Given the description of an element on the screen output the (x, y) to click on. 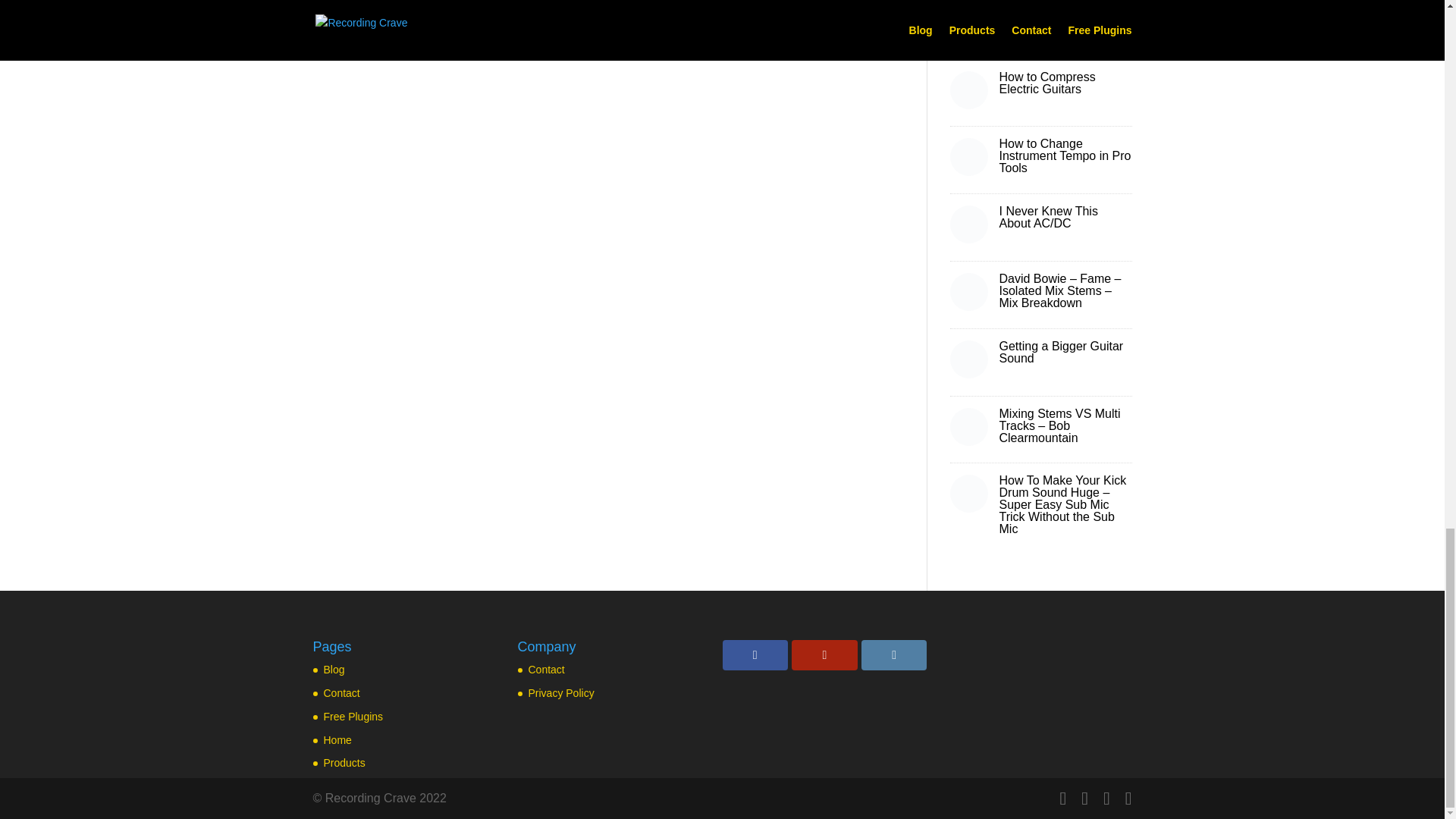
How to Mix Southern Rock, Country Background Vocals (1055, 21)
Getting a Bigger Guitar Sound (1061, 351)
Blog (333, 669)
Privacy Policy (560, 693)
How to Compress Electric Guitars (1047, 82)
Products (344, 762)
Contact (341, 693)
How to Change Instrument Tempo in Pro Tools (1064, 155)
Contact (545, 669)
Home (336, 739)
Free Plugins (352, 716)
